Given the description of an element on the screen output the (x, y) to click on. 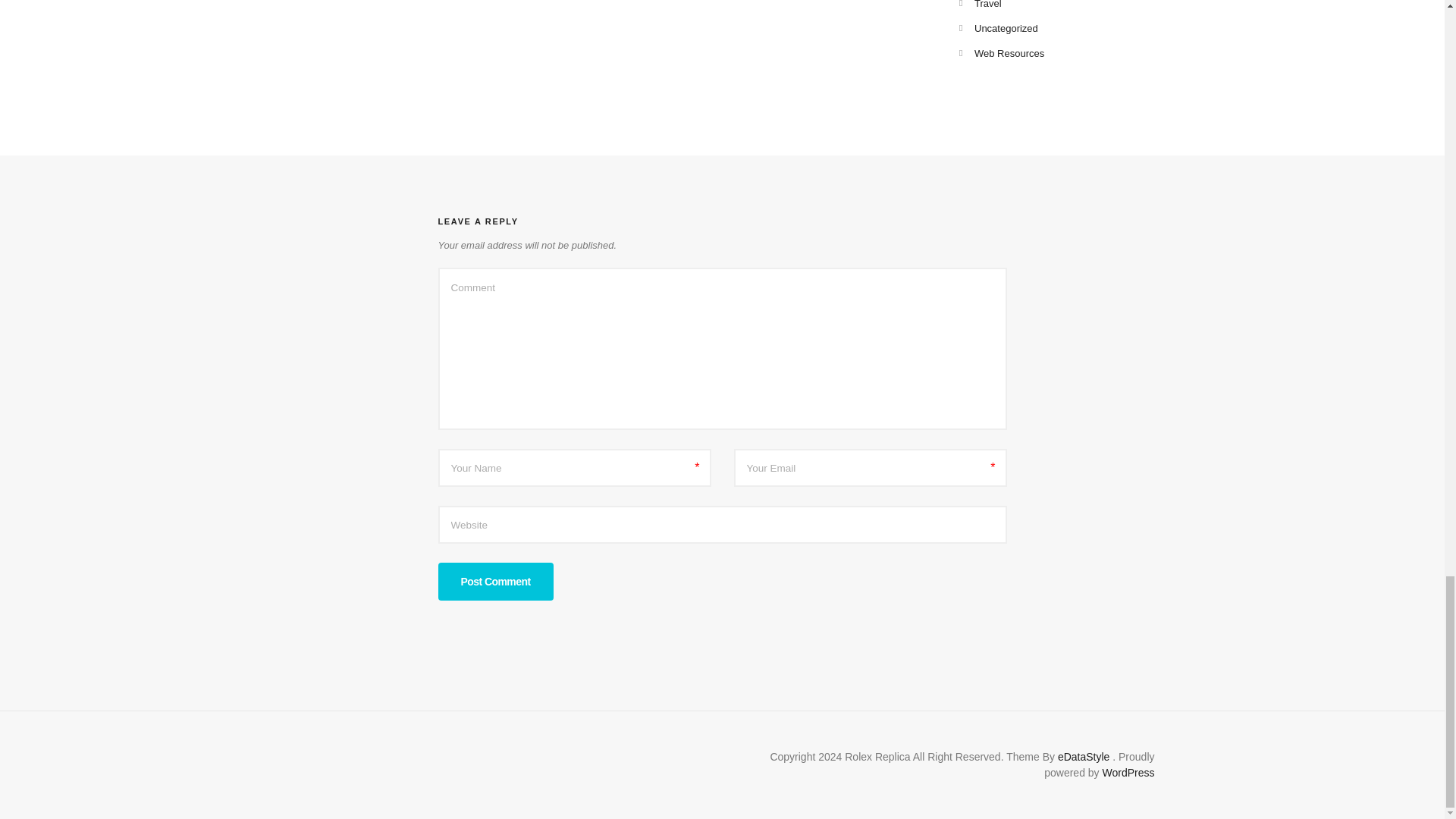
Post Comment (495, 581)
